Given the description of an element on the screen output the (x, y) to click on. 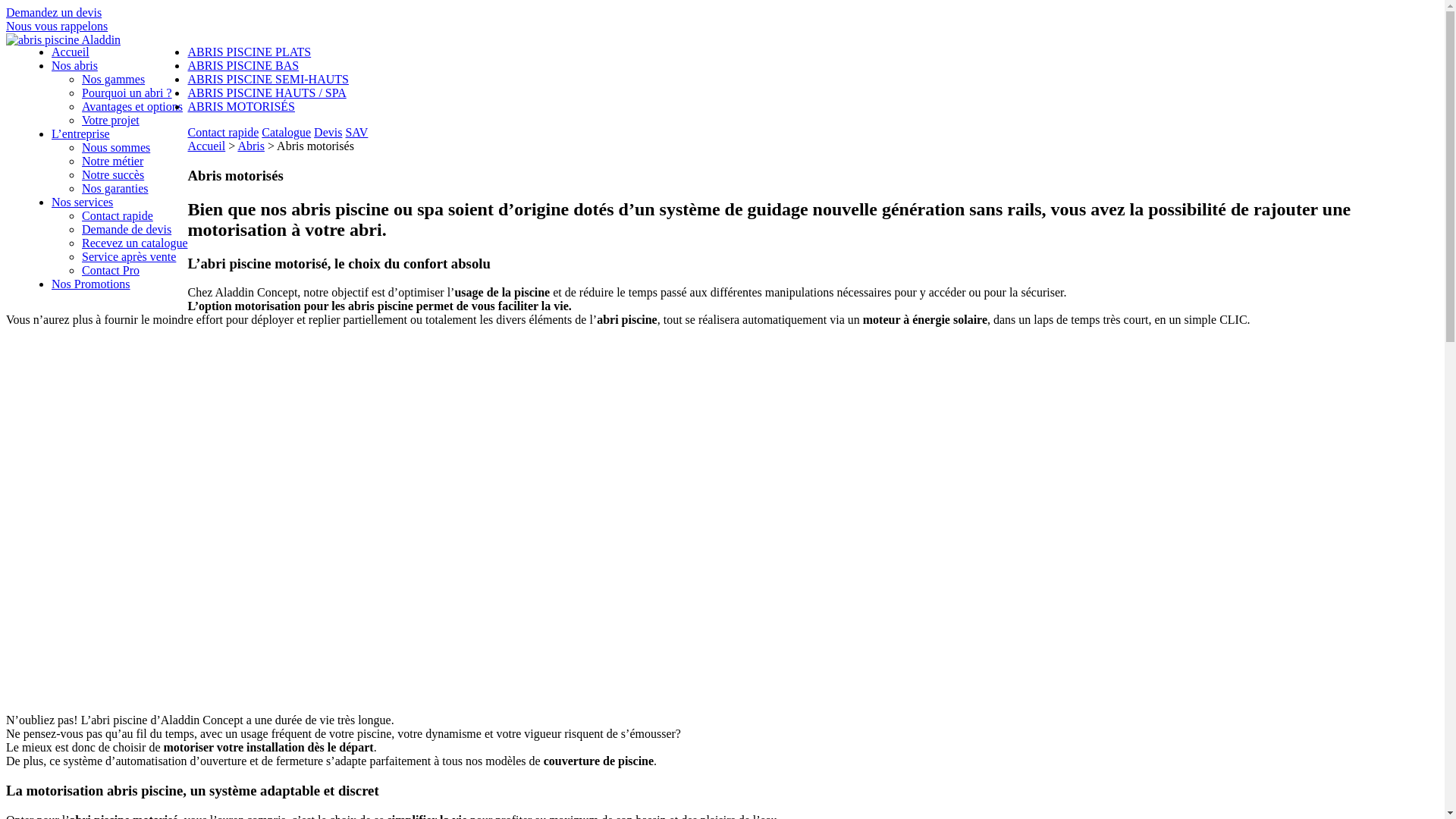
Demande de devis Element type: text (126, 228)
SAV Element type: text (356, 131)
Devis Element type: text (327, 131)
Demandez un devis Element type: text (53, 12)
Nos services Element type: text (81, 201)
Accueil Element type: text (206, 145)
Nos gammes Element type: text (112, 78)
Contact rapide Element type: text (222, 131)
Contact Pro Element type: text (110, 269)
Nos garanties Element type: text (114, 188)
Nous sommes Element type: text (115, 147)
Nos abris Element type: text (74, 65)
Recevez un catalogue Element type: text (134, 242)
ABRIS PISCINE HAUTS / SPA Element type: text (266, 92)
Nous vous rappelons Element type: text (56, 25)
Nos Promotions Element type: text (90, 283)
Avantages et options Element type: text (131, 106)
ABRIS PISCINE PLATS Element type: text (248, 51)
Votre projet Element type: text (110, 119)
Catalogue Element type: text (285, 131)
Abris Element type: text (250, 145)
ABRIS PISCINE SEMI-HAUTS Element type: text (267, 78)
Contact rapide Element type: text (117, 215)
ABRIS PISCINE BAS Element type: text (242, 65)
Accueil Element type: text (70, 51)
Pourquoi un abri ? Element type: text (126, 92)
